Given the description of an element on the screen output the (x, y) to click on. 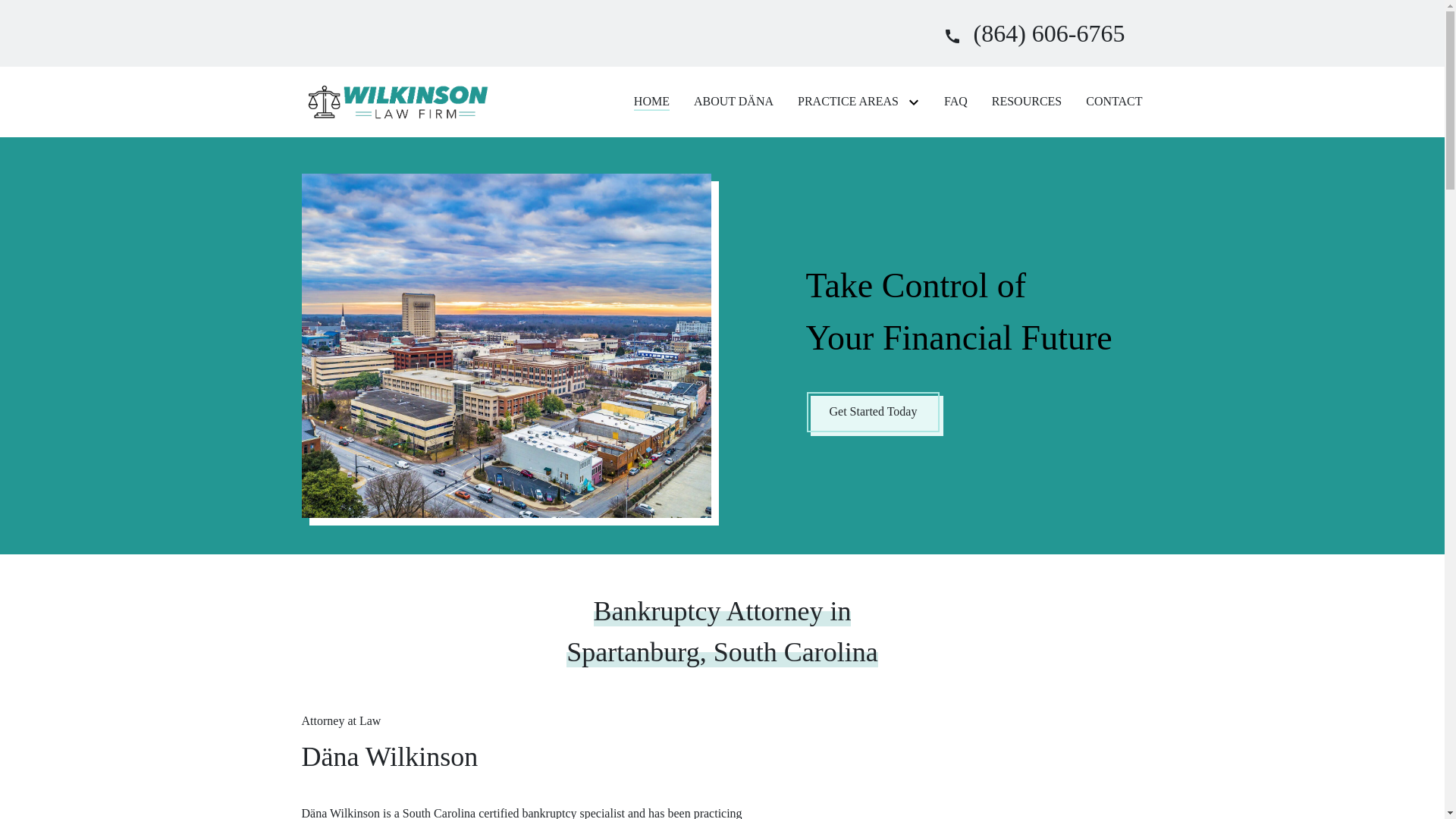
Get Started Today (872, 412)
RESOURCES (1026, 101)
PRACTICE AREAS (847, 101)
HOME (651, 101)
FAQ (955, 101)
CONTACT (1113, 101)
